Given the description of an element on the screen output the (x, y) to click on. 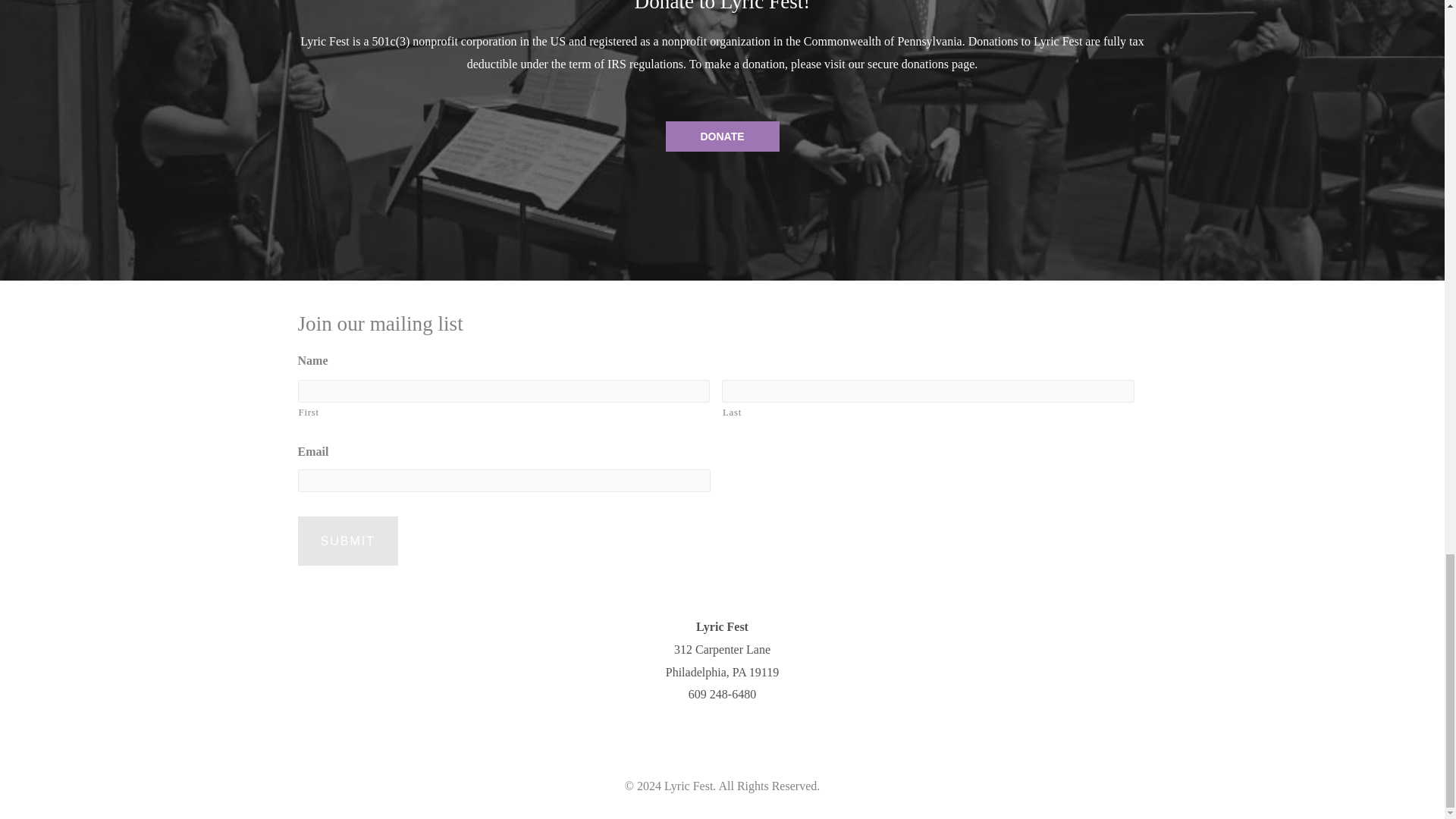
Submit (347, 541)
DONATE (721, 136)
